Given the description of an element on the screen output the (x, y) to click on. 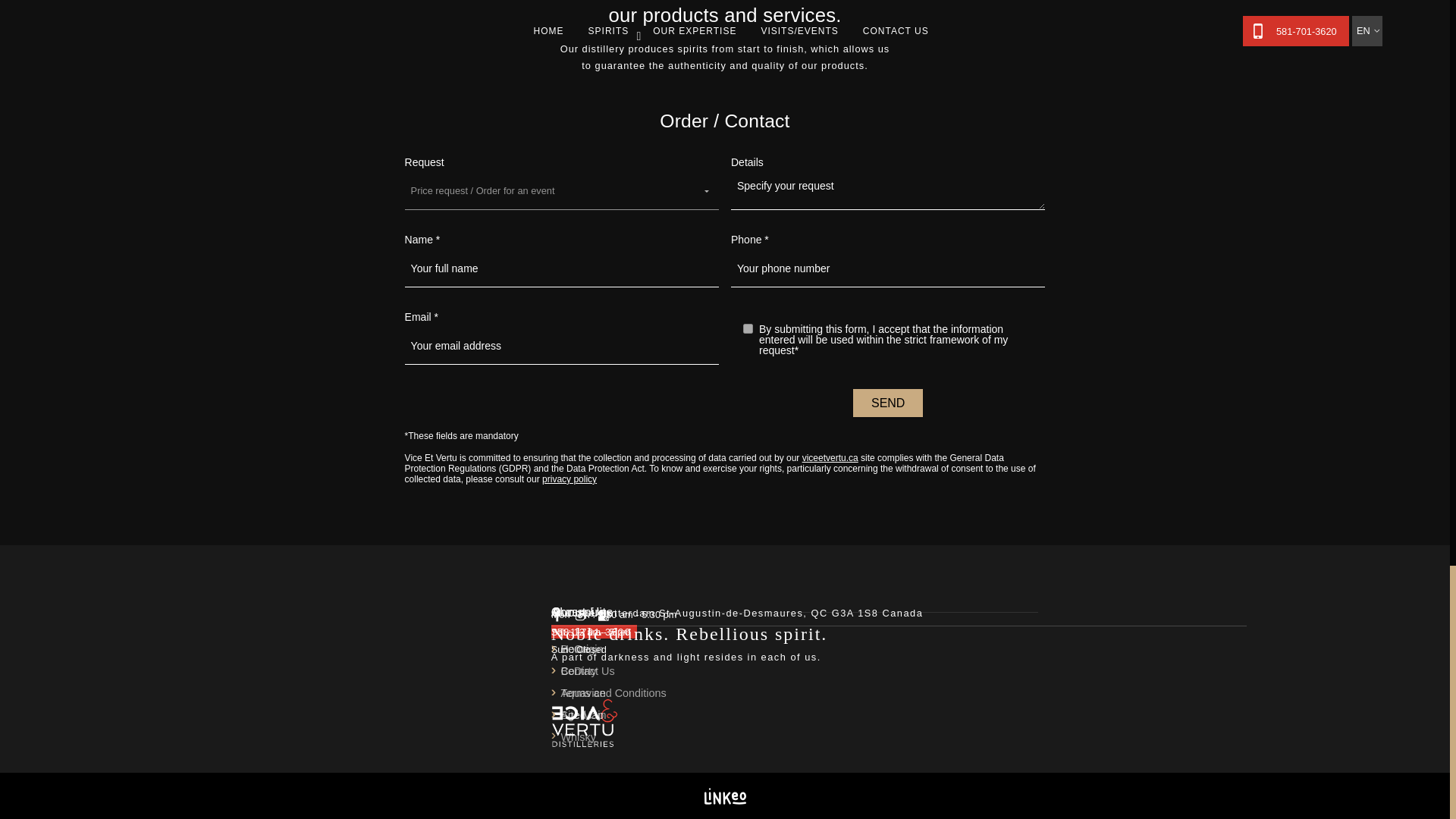
Home (574, 648)
Contact Us (587, 671)
Site Map (582, 715)
linkeo (724, 794)
Send (888, 402)
581-701-3620 (594, 631)
rgpd-checked (747, 328)
Send (888, 402)
BeDirty (577, 671)
privacy policy (568, 479)
Terms and Conditions (612, 693)
BeOrigin (581, 648)
viceetvertu.ca (830, 457)
